Given the description of an element on the screen output the (x, y) to click on. 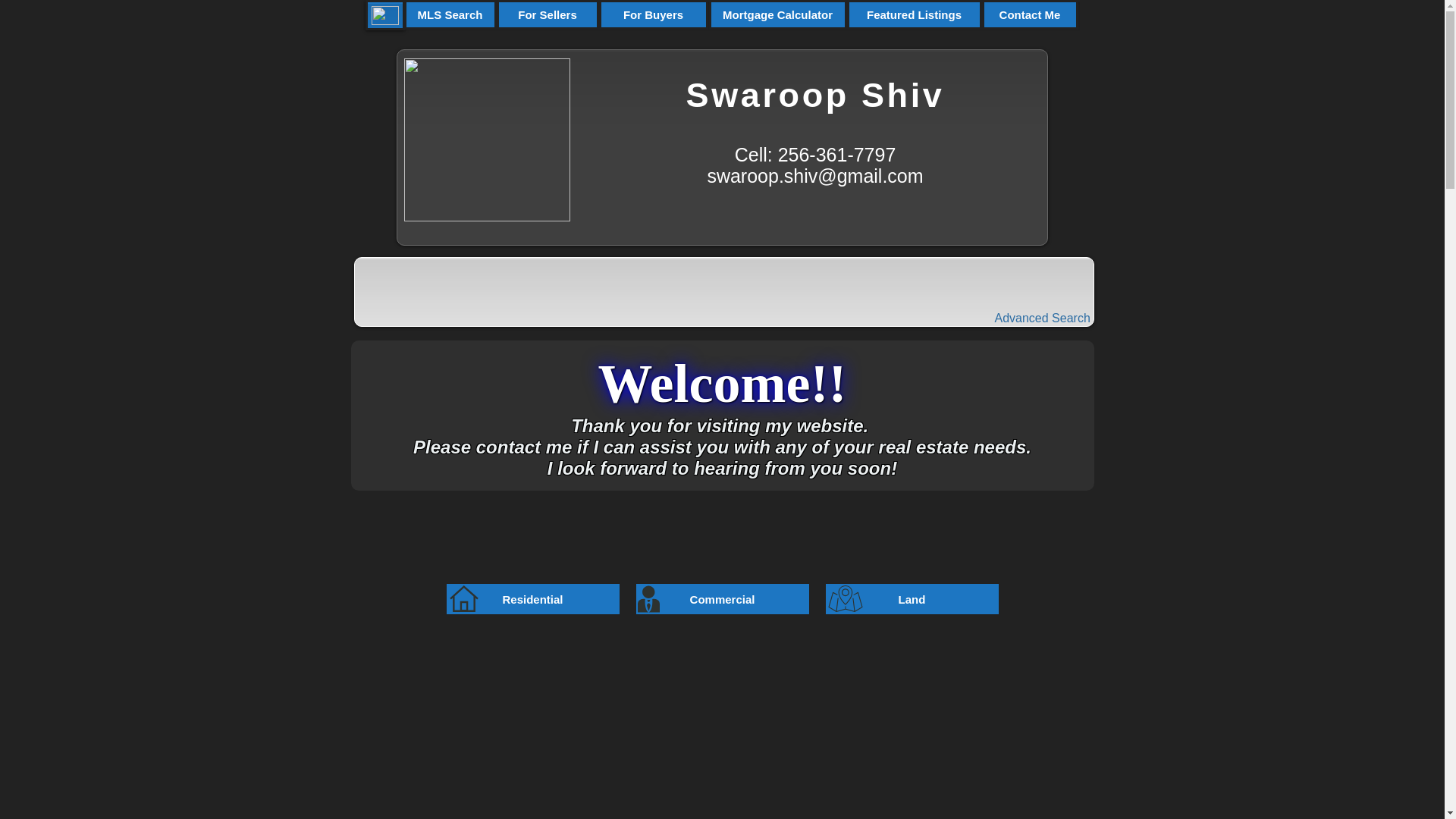
Mortgage Calculator (776, 14)
MLS Search (449, 14)
Advanced Search        (1053, 318)
Residential (532, 598)
Land (912, 598)
For Buyers (652, 14)
Contact Me (1029, 14)
Featured Listings (913, 14)
For Sellers (547, 14)
Commercial (721, 598)
